Given the description of an element on the screen output the (x, y) to click on. 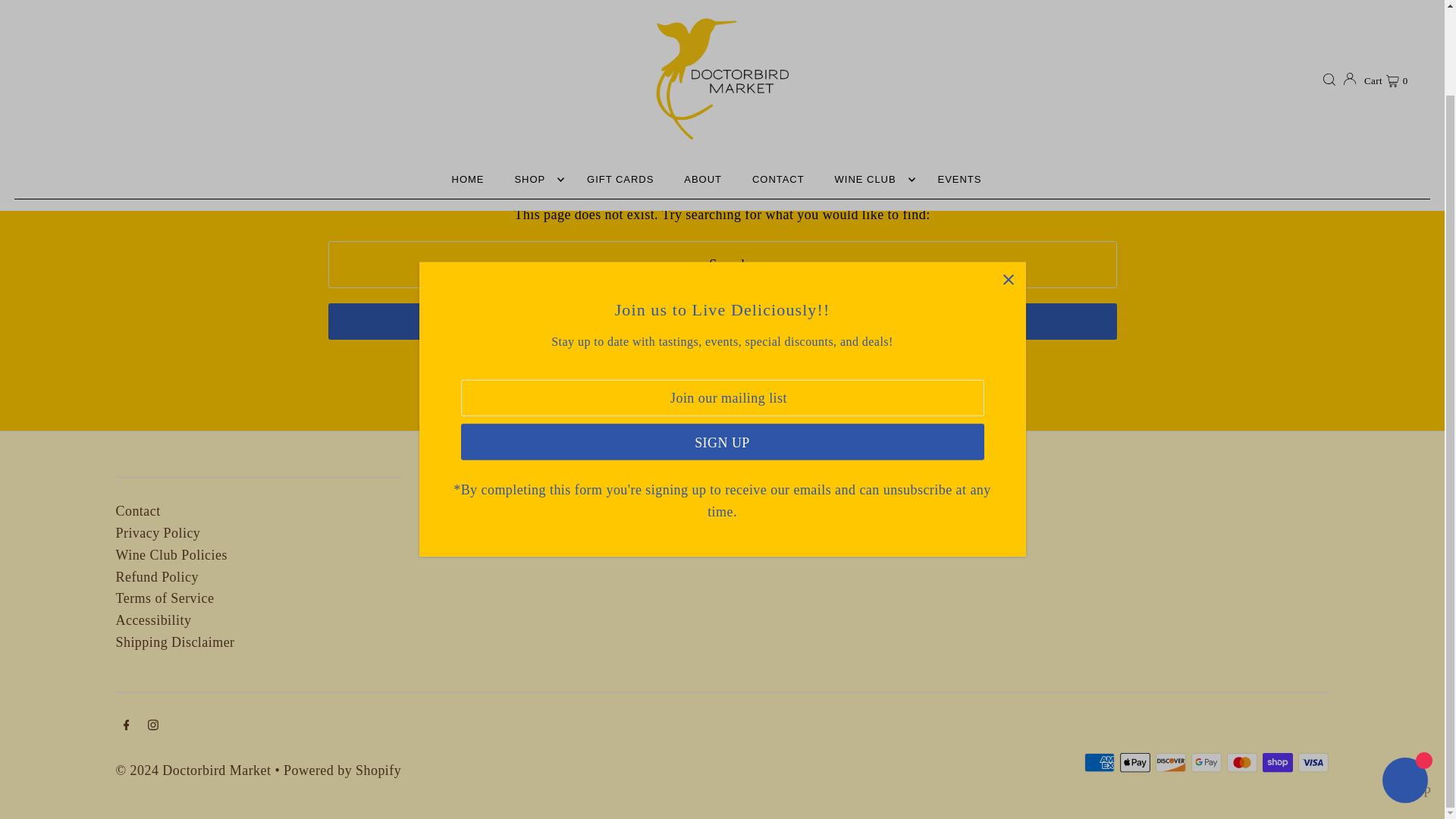
TOP (1417, 691)
Discover (1171, 762)
Contact (137, 510)
Search (721, 321)
HOME (468, 83)
Shop Pay (1277, 762)
WINE CLUB (871, 83)
Apple Pay (1134, 762)
American Express (1099, 762)
Sign up (722, 344)
Close popup (1008, 181)
Google Pay (1206, 762)
SHOP (535, 83)
Cart (1385, 0)
Search (721, 321)
